Given the description of an element on the screen output the (x, y) to click on. 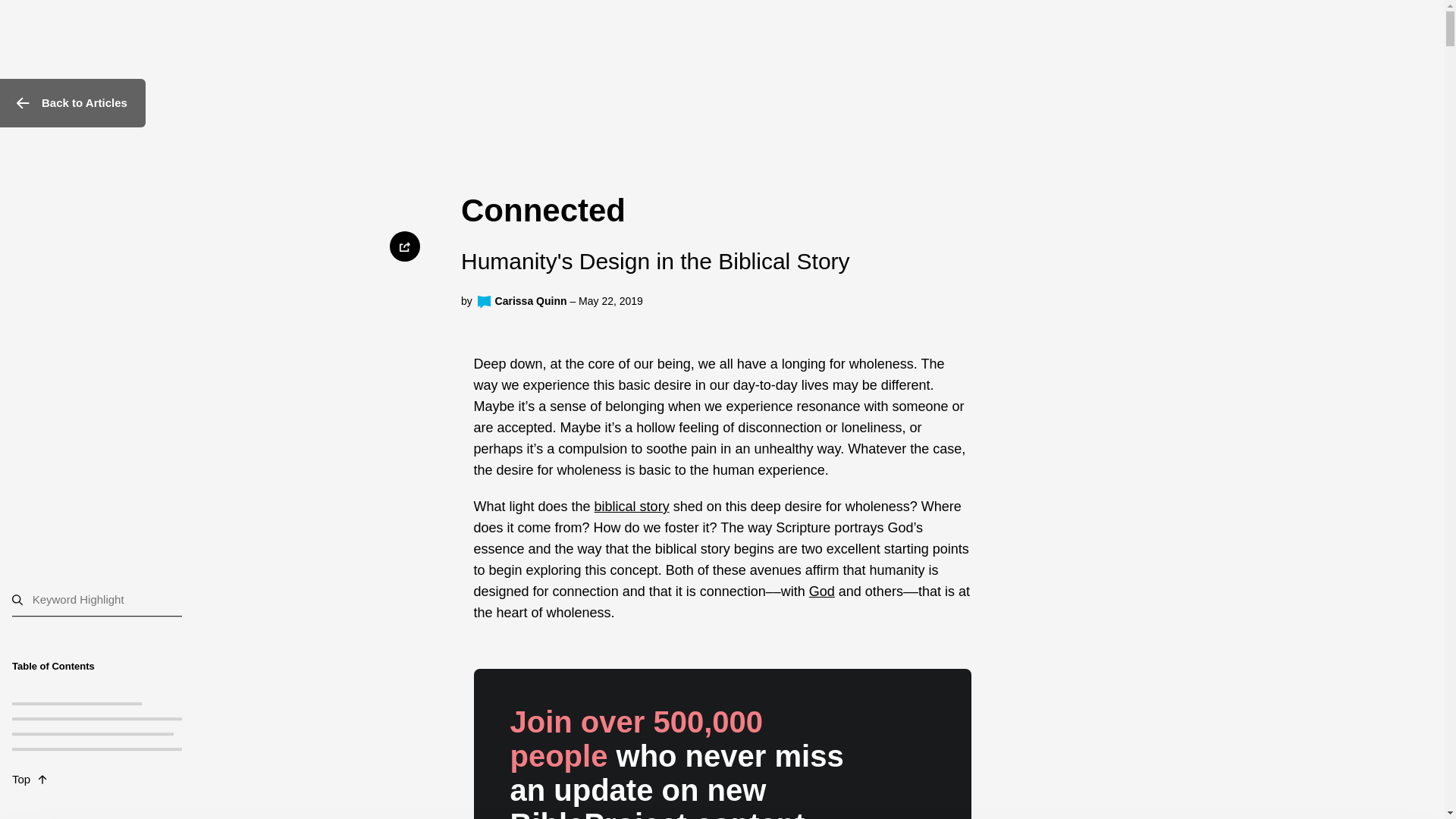
An Others-Oriented and Self-Giving Being (124, 718)
The Heart of Wholeness (76, 703)
Puppet-Servants or Partners? (92, 733)
biblical story (631, 506)
Top (127, 779)
Back to Articles (72, 102)
BibleProject (483, 301)
